Given the description of an element on the screen output the (x, y) to click on. 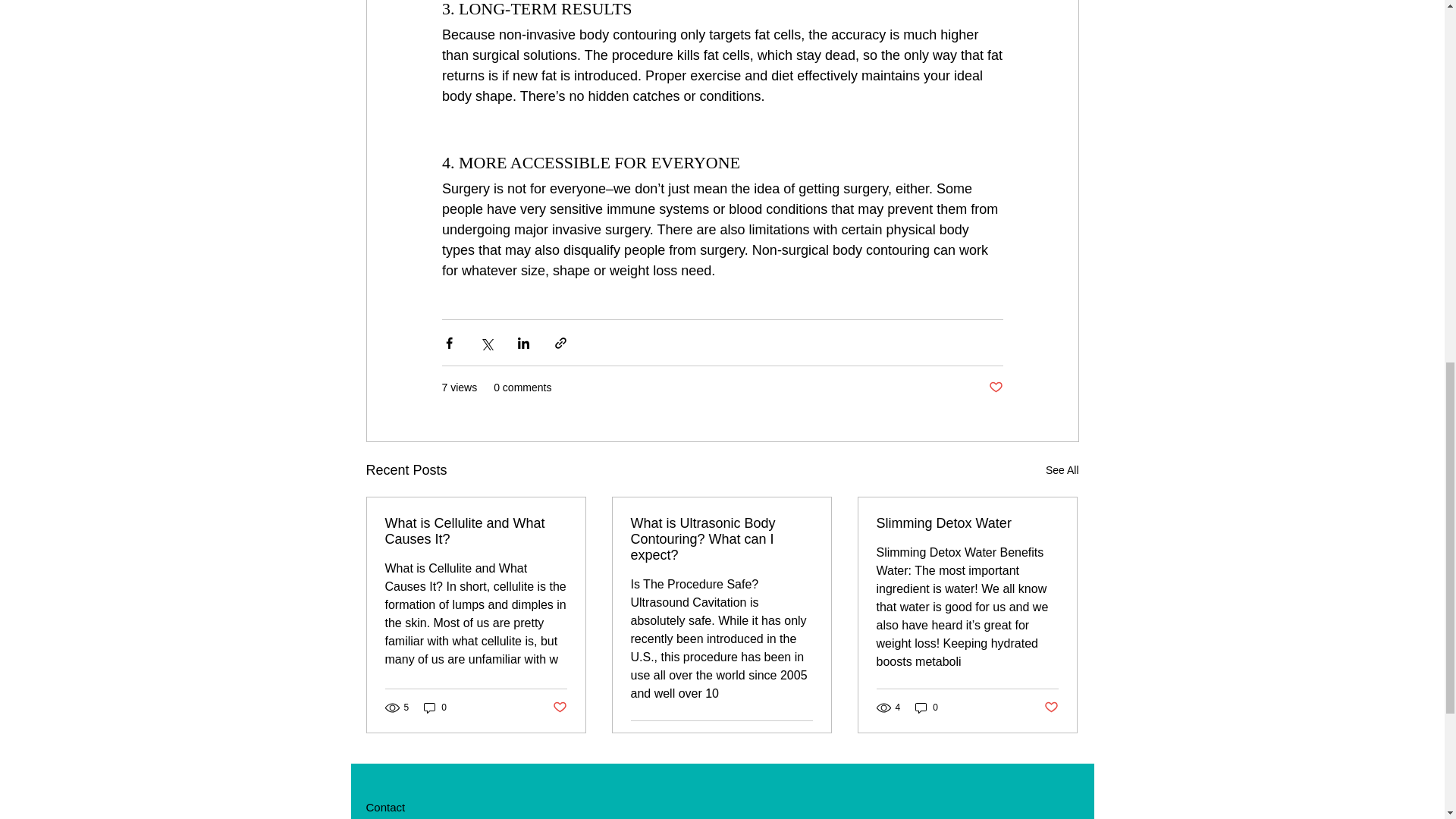
Post not marked as liked (804, 738)
What is Cellulite and What Causes It? (476, 531)
Post not marked as liked (1050, 706)
0 (435, 707)
What is Ultrasonic Body Contouring? What can I expect? (721, 539)
Post not marked as liked (558, 706)
Post not marked as liked (995, 387)
See All (1061, 470)
Slimming Detox Water (967, 523)
0 (926, 707)
